Given the description of an element on the screen output the (x, y) to click on. 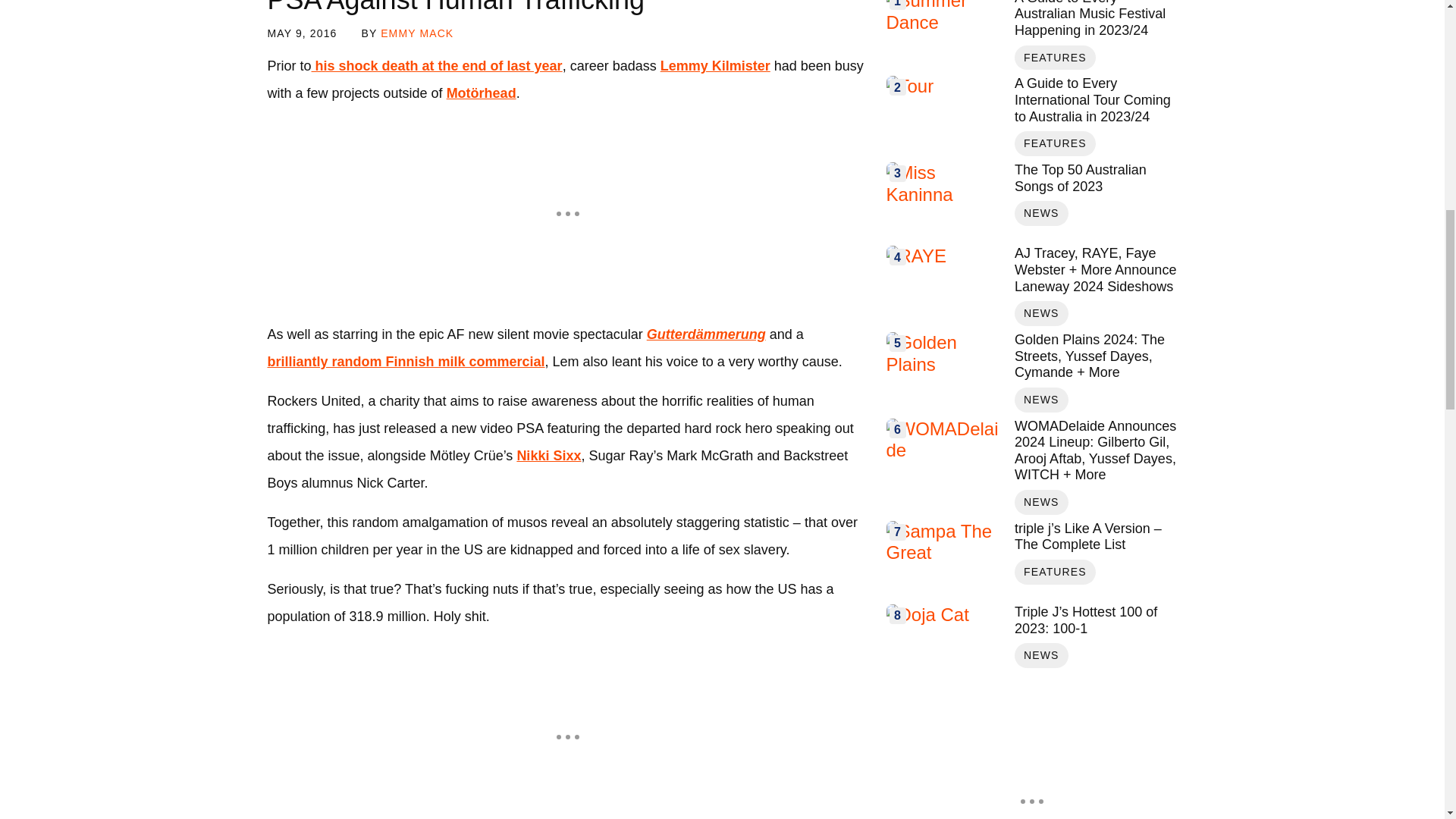
Nikki Sixx (548, 455)
The Top 50 Australian Songs of 2023 (944, 200)
EMMY MACK (416, 33)
brilliantly random Finnish milk commercial (405, 361)
Lemmy Kilmister (715, 65)
his shock death at the end of last year (436, 65)
The Top 50 Australian Songs of 2023 (1095, 178)
